Given the description of an element on the screen output the (x, y) to click on. 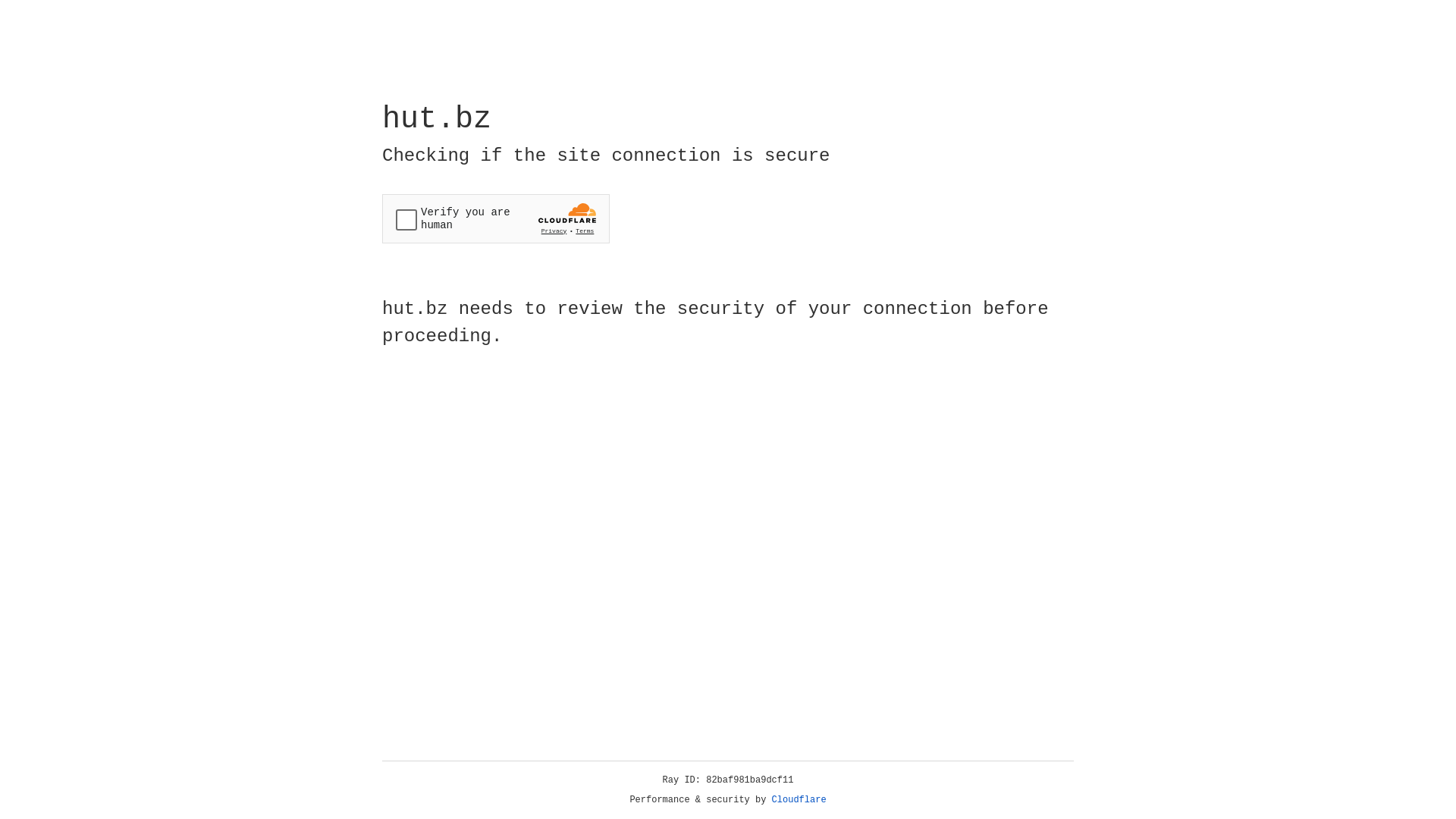
Cloudflare Element type: text (798, 799)
Widget containing a Cloudflare security challenge Element type: hover (495, 218)
